Given the description of an element on the screen output the (x, y) to click on. 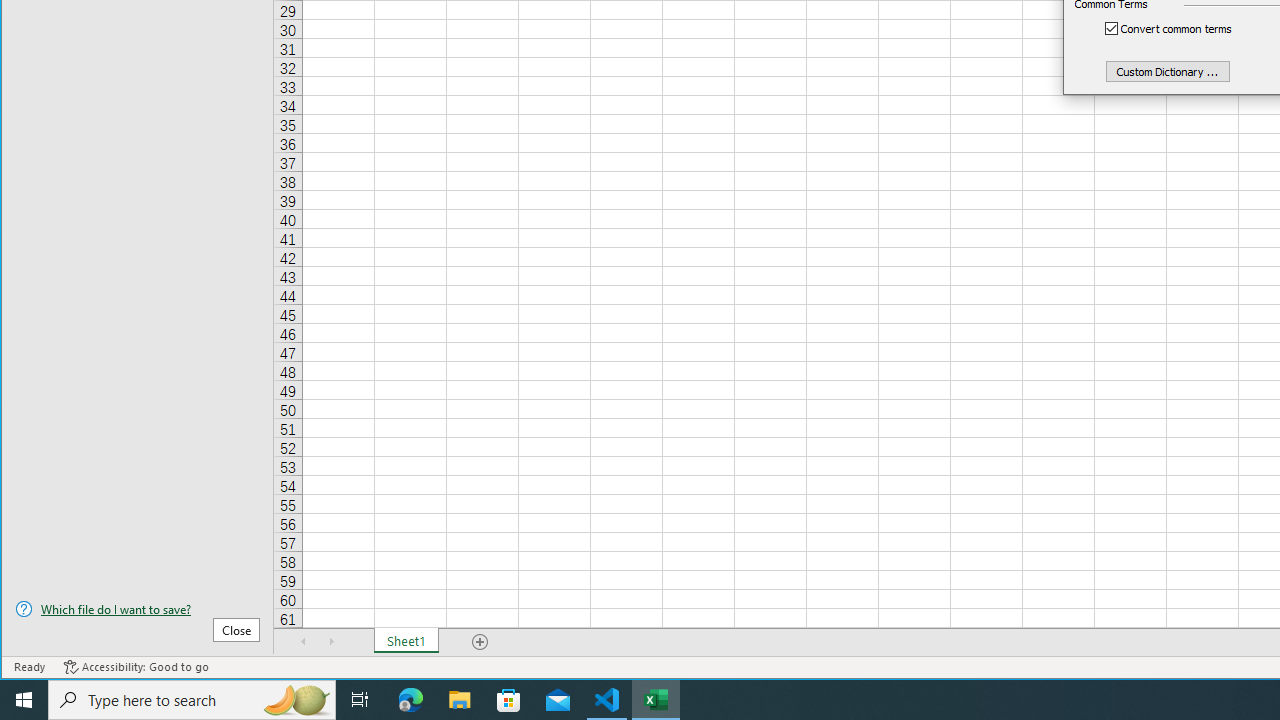
Microsoft Edge (411, 699)
Type here to search (191, 699)
